Given the description of an element on the screen output the (x, y) to click on. 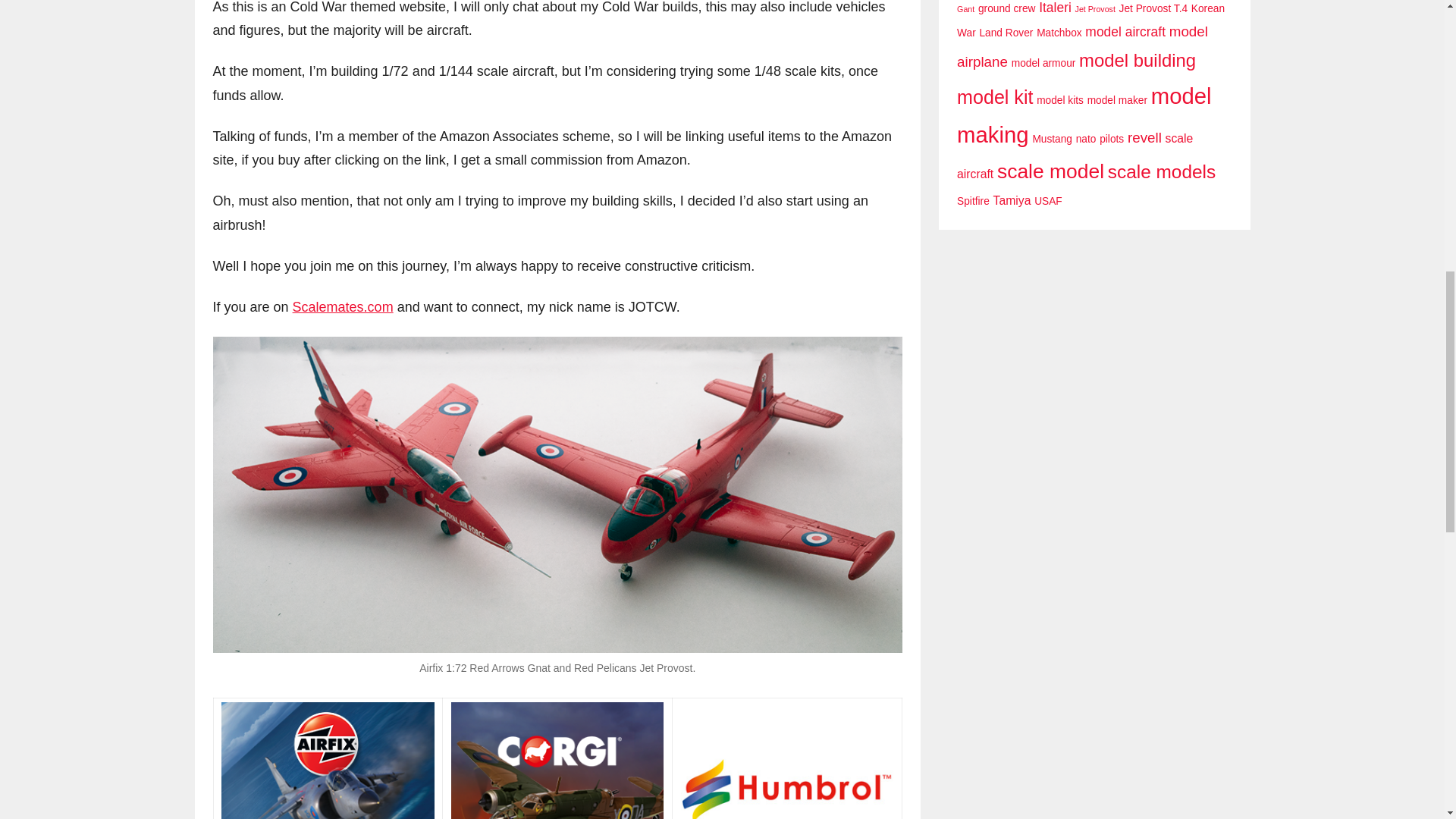
Scalemates.com (342, 306)
